Given the description of an element on the screen output the (x, y) to click on. 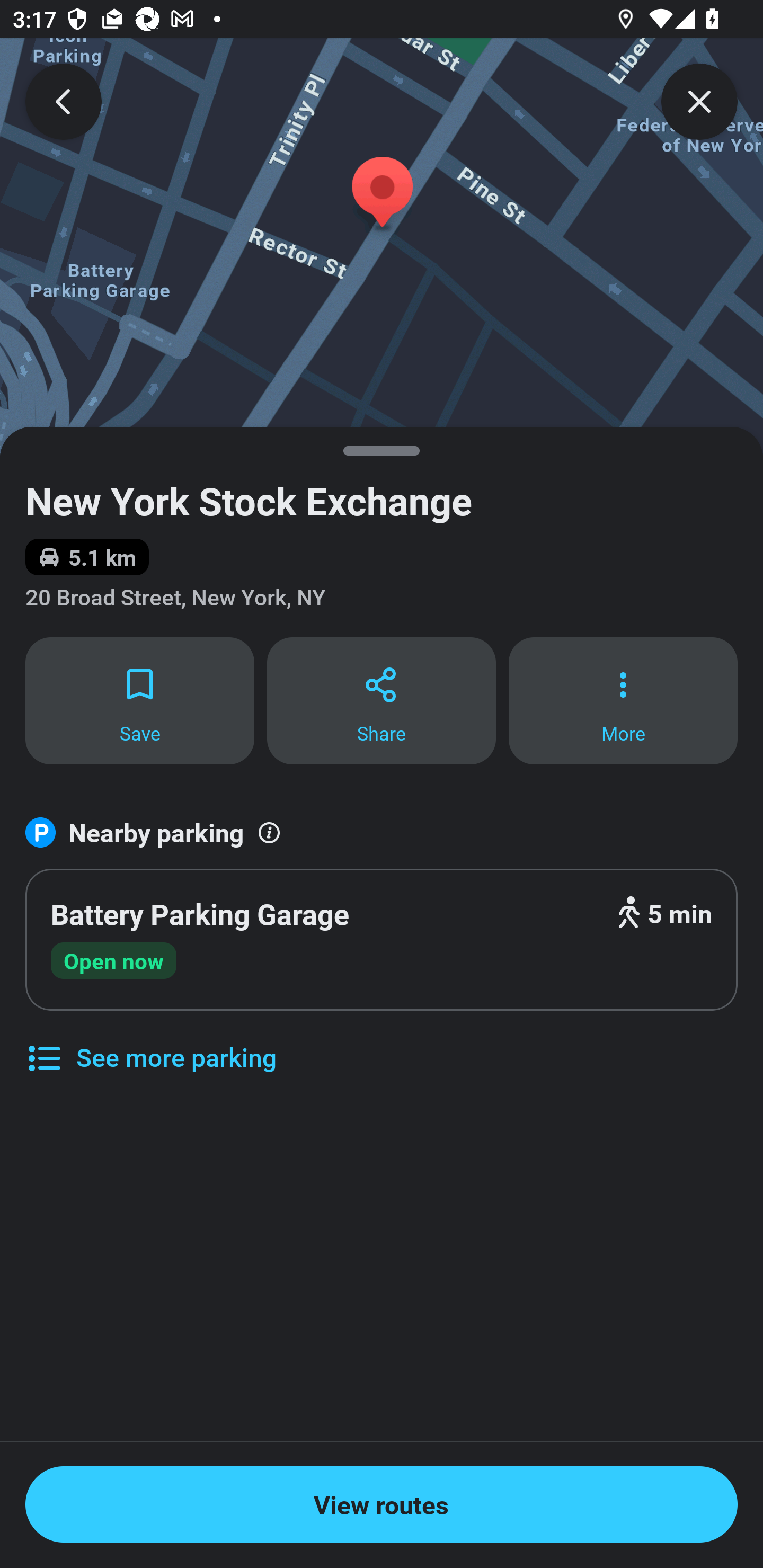
Save (139, 700)
Share (381, 700)
More (622, 700)
Battery Parking Garage 5 min Open now (381, 939)
See more parking (150, 1043)
View routes (381, 1504)
